Given the description of an element on the screen output the (x, y) to click on. 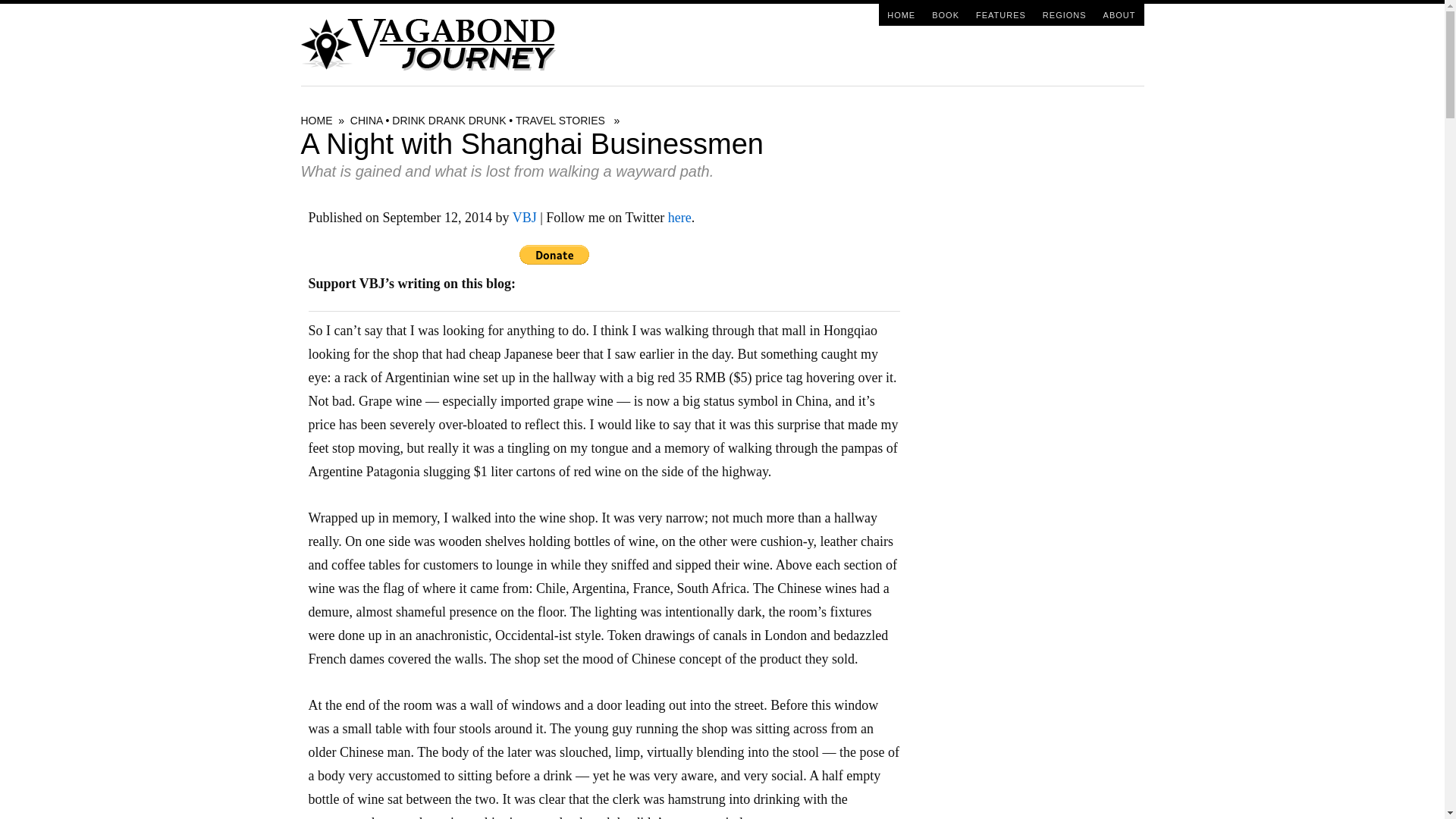
HOME (901, 14)
2014-09-12 (437, 217)
here (679, 217)
VBJ (524, 217)
FEATURES (1000, 14)
CHINA (366, 120)
ABOUT (1119, 14)
HOME (315, 120)
DRINK DRANK DRUNK (448, 120)
BOOK (945, 14)
Home (901, 14)
TRAVEL STORIES (560, 120)
REGIONS (1063, 14)
